Given the description of an element on the screen output the (x, y) to click on. 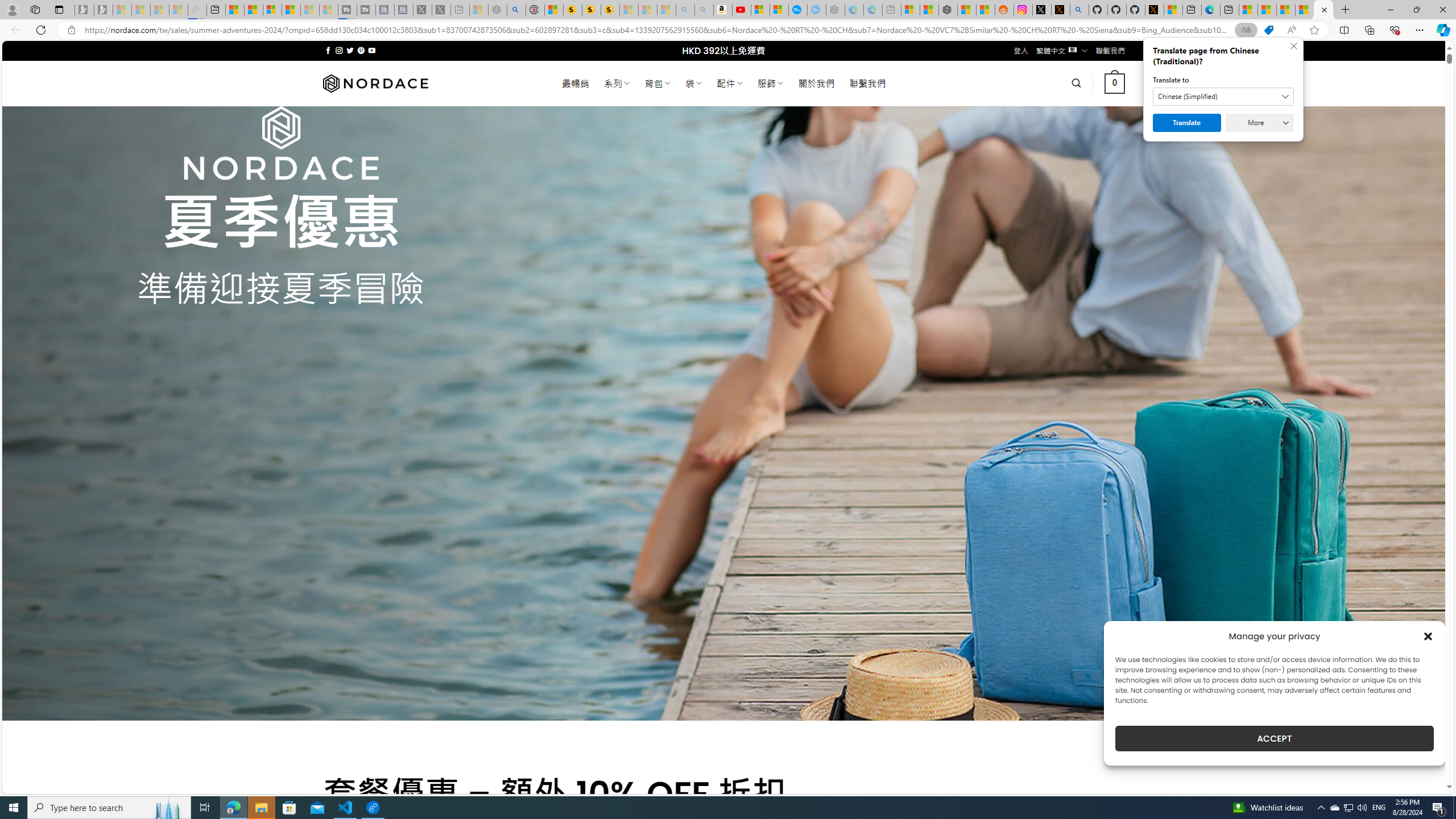
New tab - Sleeping (891, 9)
Log in to X / X (1041, 9)
Welcome to Microsoft Edge (1210, 9)
New tab (1229, 9)
github - Search (1079, 9)
Refresh (40, 29)
